Given the description of an element on the screen output the (x, y) to click on. 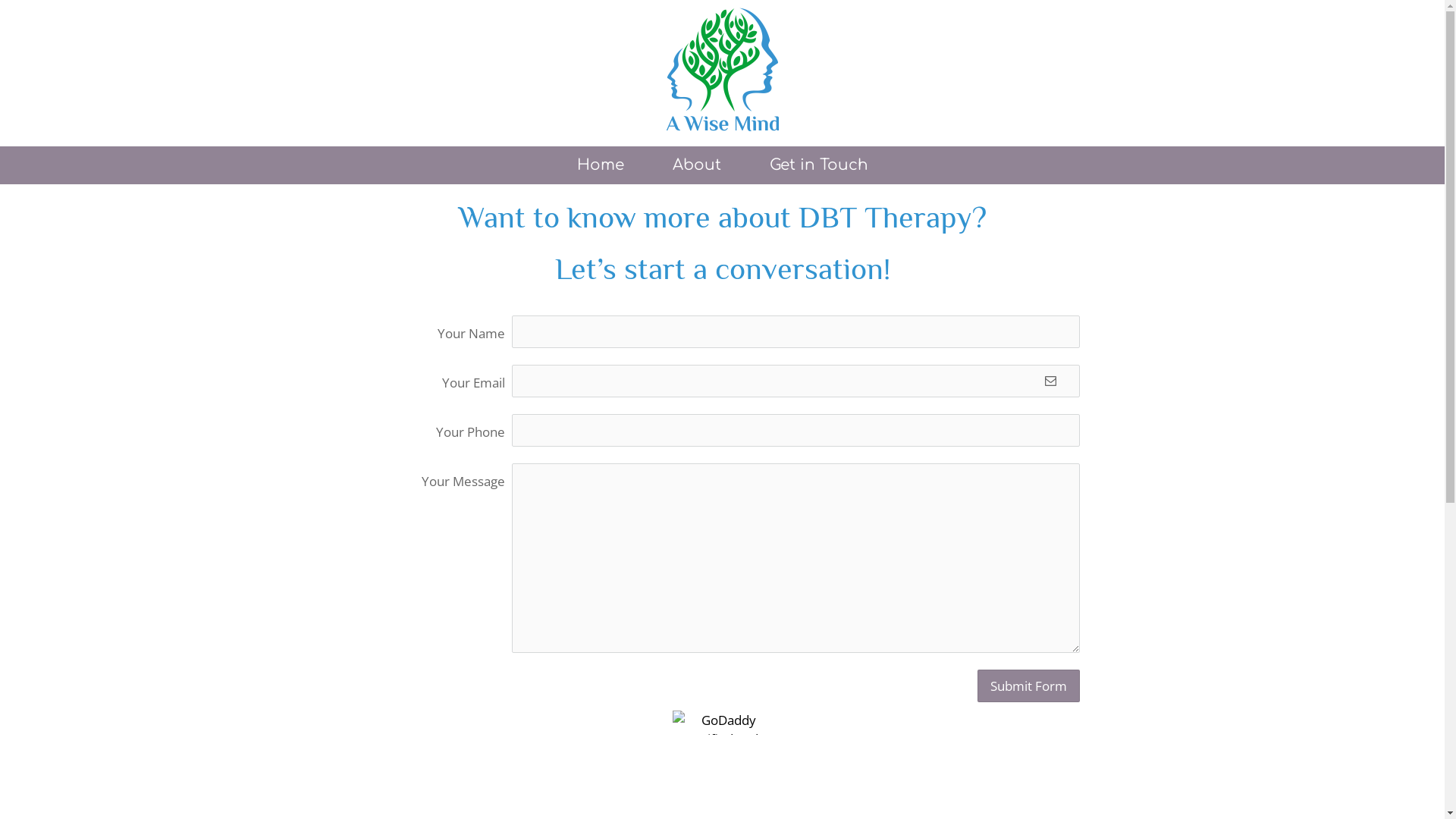
Submit Form Element type: text (1027, 684)
Get in Touch Element type: text (818, 164)
About Element type: text (696, 164)
Home Element type: text (599, 164)
